Given the description of an element on the screen output the (x, y) to click on. 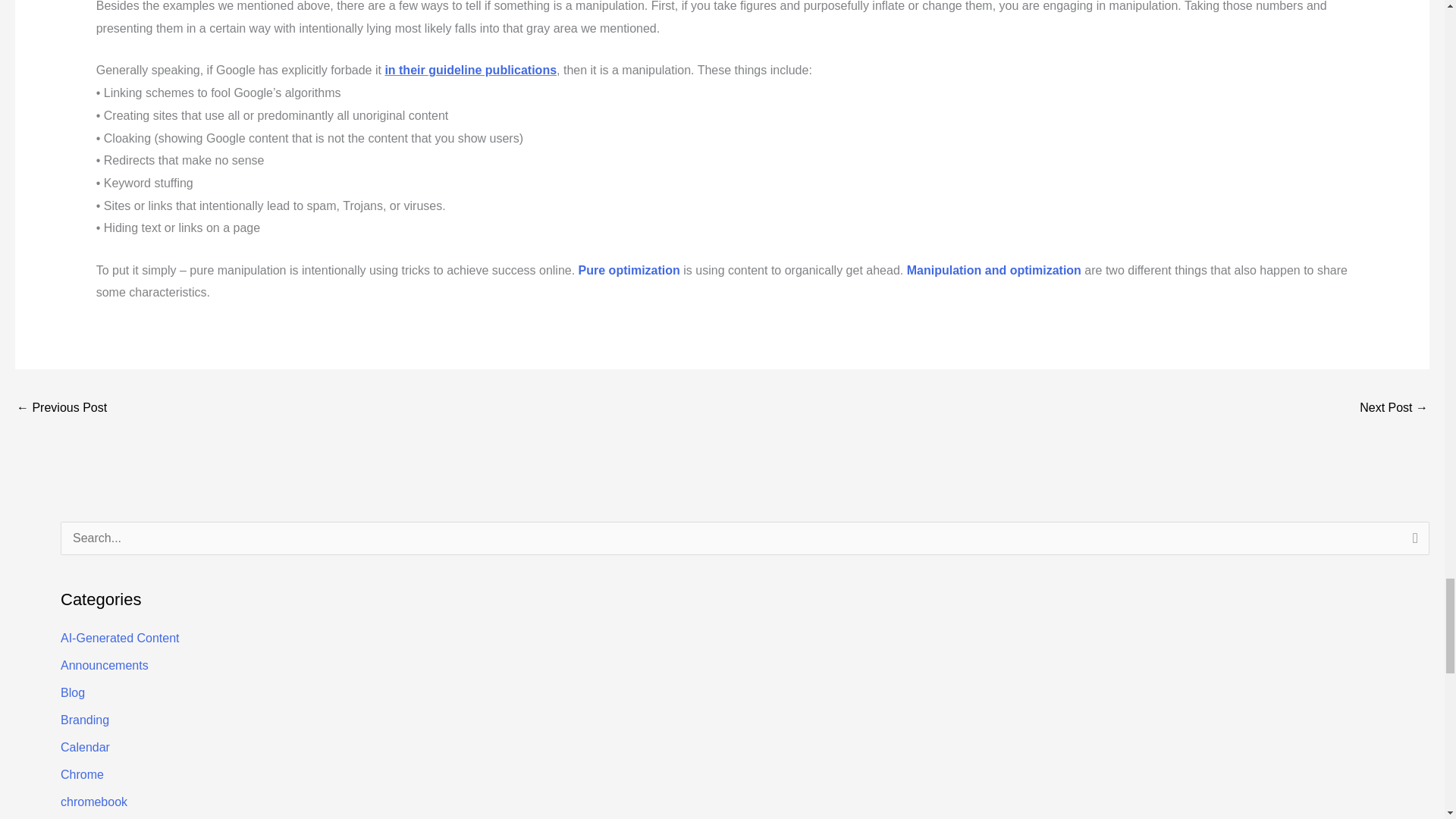
Search (1411, 542)
Blog (72, 692)
Manipulation and optimization (994, 269)
Search (1411, 542)
Chrome (82, 774)
Branding (85, 719)
AI-Generated Content (120, 637)
Calendar (85, 747)
Search (1411, 542)
chromebook (94, 801)
Announcements (104, 665)
in their guideline publications (470, 69)
Pure optimization (628, 269)
